Given the description of an element on the screen output the (x, y) to click on. 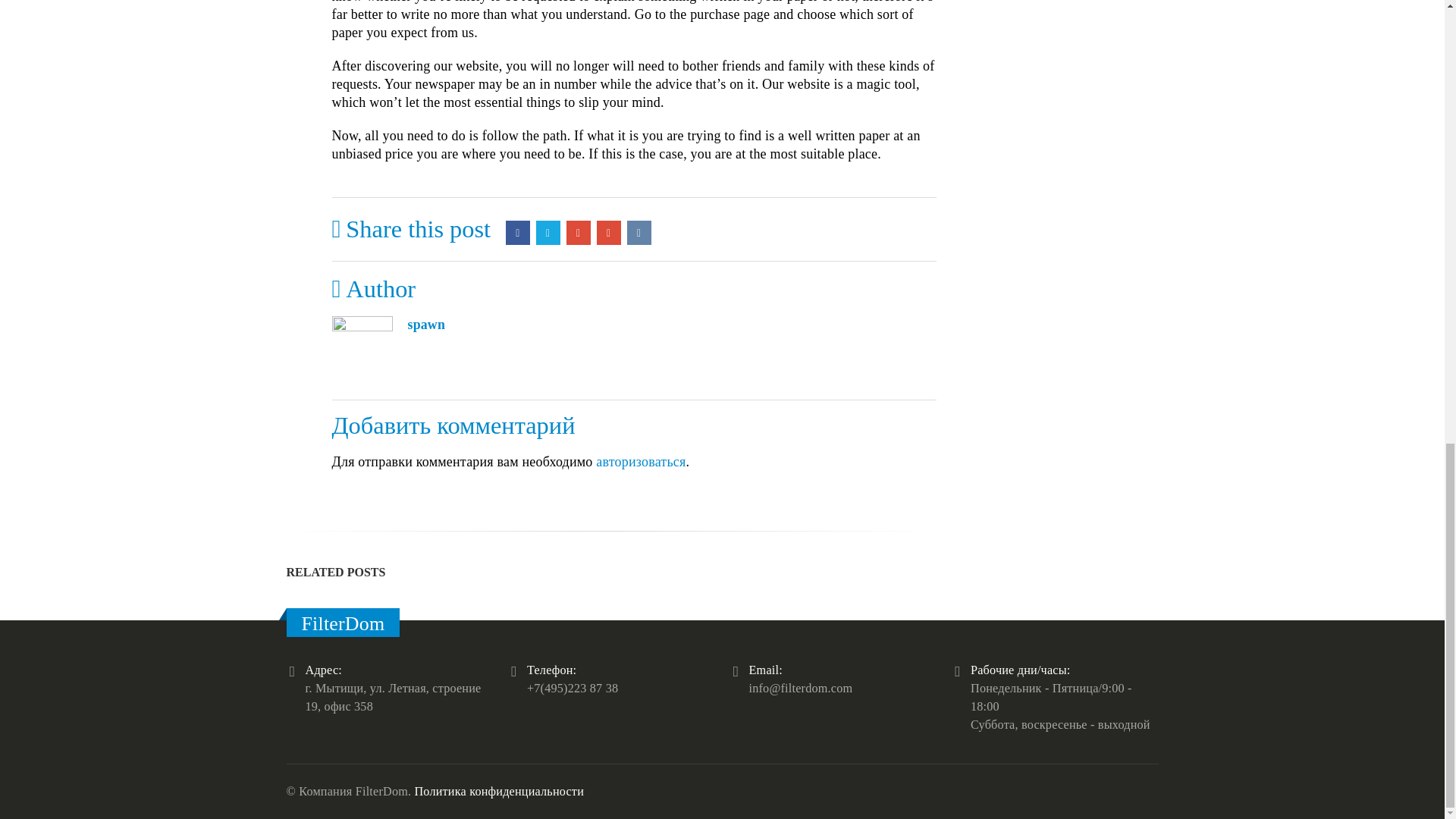
VK (638, 232)
Email (608, 232)
Facebook (517, 232)
spawn (426, 324)
Email (608, 232)
Twitter (547, 232)
Twitter (547, 232)
Facebook (517, 232)
VK (638, 232)
